Given the description of an element on the screen output the (x, y) to click on. 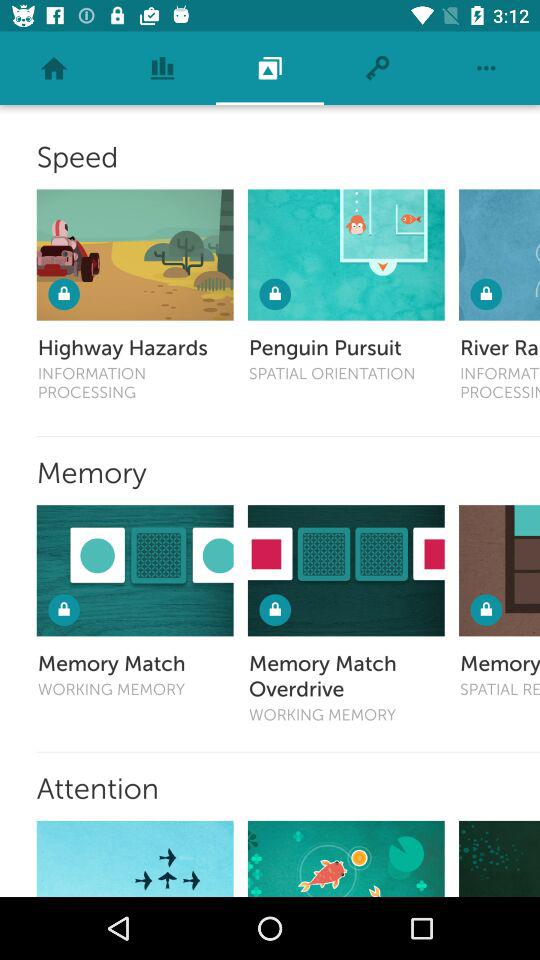
test your memory with memory match (134, 570)
